Given the description of an element on the screen output the (x, y) to click on. 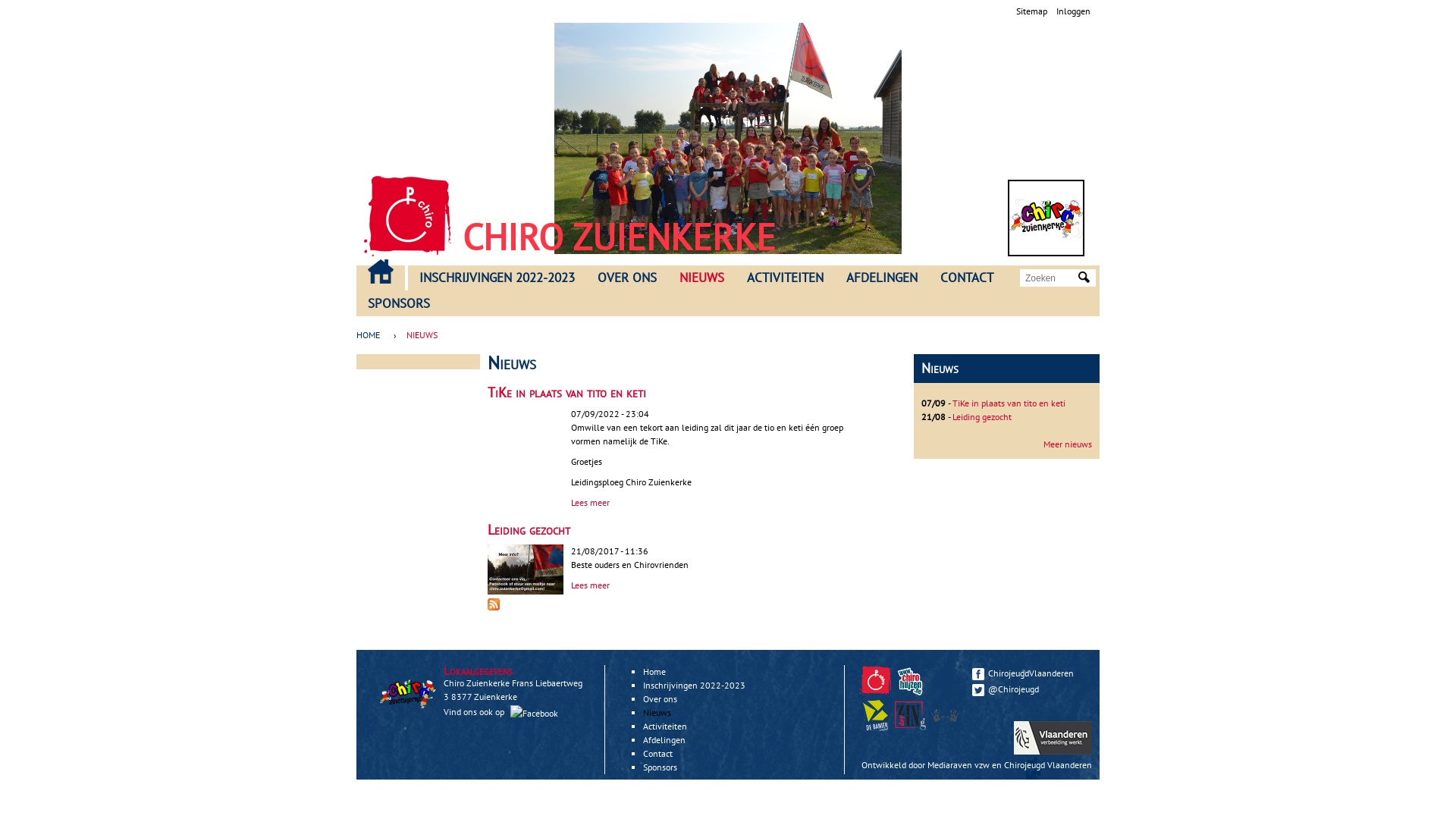
AFDELINGEN Element type: text (881, 278)
Home Element type: text (654, 671)
Geef de woorden op waarnaar u wilt zoeken. Element type: hover (1049, 277)
Meer nieuws Element type: text (1067, 443)
TiKe in plaats van tito en keti Element type: text (1008, 402)
Mediaraven vzw Element type: text (958, 764)
De Banier Element type: hover (876, 727)
INSCHRIJVINGEN 2022-2023 Element type: text (496, 278)
Chirohuizen Element type: hover (909, 680)
Chirojeugd Vlaanderen Element type: hover (876, 692)
Zindering Element type: hover (909, 715)
Lees meer Element type: text (590, 584)
Leiding gezocht Element type: text (981, 416)
Activiteiten Element type: text (665, 725)
Sponsors Element type: text (660, 766)
CHIRO ZUIENKERKE Element type: text (618, 236)
Nieuws Element type: text (657, 712)
@Chirojeugd Element type: text (1028, 688)
Chirojeugd Vlaanderen Element type: text (1048, 764)
Sitemap Element type: text (1031, 10)
Inschrijvingen 2022-2023 Element type: text (694, 684)
Chirojeugd Vlaanderen Element type: hover (875, 680)
Leiding gezocht Element type: text (528, 529)
Afdelingen Element type: text (664, 739)
Contact Element type: text (657, 753)
Verbond West-Vlaanderen Element type: hover (944, 715)
Inloggen Element type: text (1073, 10)
Zindering Element type: hover (946, 727)
Chirohuizen Element type: hover (911, 692)
Over ons Element type: text (660, 698)
HOME Element type: text (371, 334)
Facebook Element type: hover (978, 674)
Facebook Element type: hover (534, 713)
ACTIVITEITEN Element type: text (784, 278)
HOME Element type: text (380, 271)
SPONSORS Element type: text (398, 303)
Home Element type: hover (407, 215)
ChirojeugdVlaanderen Element type: text (1028, 672)
Twitter Element type: hover (978, 690)
NIEUWS Element type: text (701, 278)
Home Element type: hover (1045, 217)
CONTACT Element type: text (966, 278)
OVER ONS Element type: text (627, 278)
Abonneren op Nieuws Element type: hover (493, 606)
De Banier Element type: hover (875, 715)
Lees meer Element type: text (590, 502)
Zindering Element type: hover (911, 727)
TiKe in plaats van tito en keti Element type: text (566, 392)
